Given the description of an element on the screen output the (x, y) to click on. 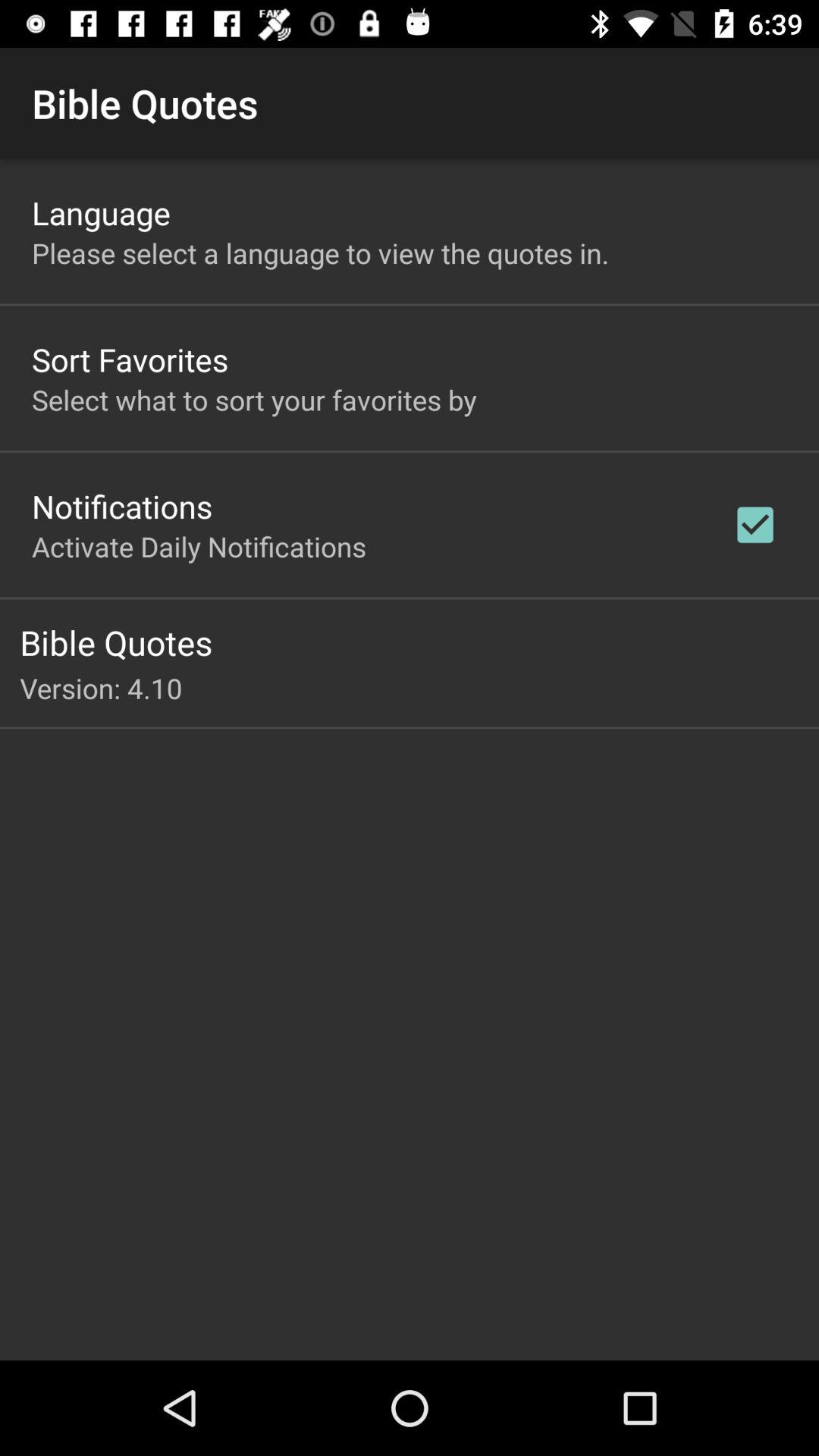
launch the item above bible quotes icon (755, 524)
